Given the description of an element on the screen output the (x, y) to click on. 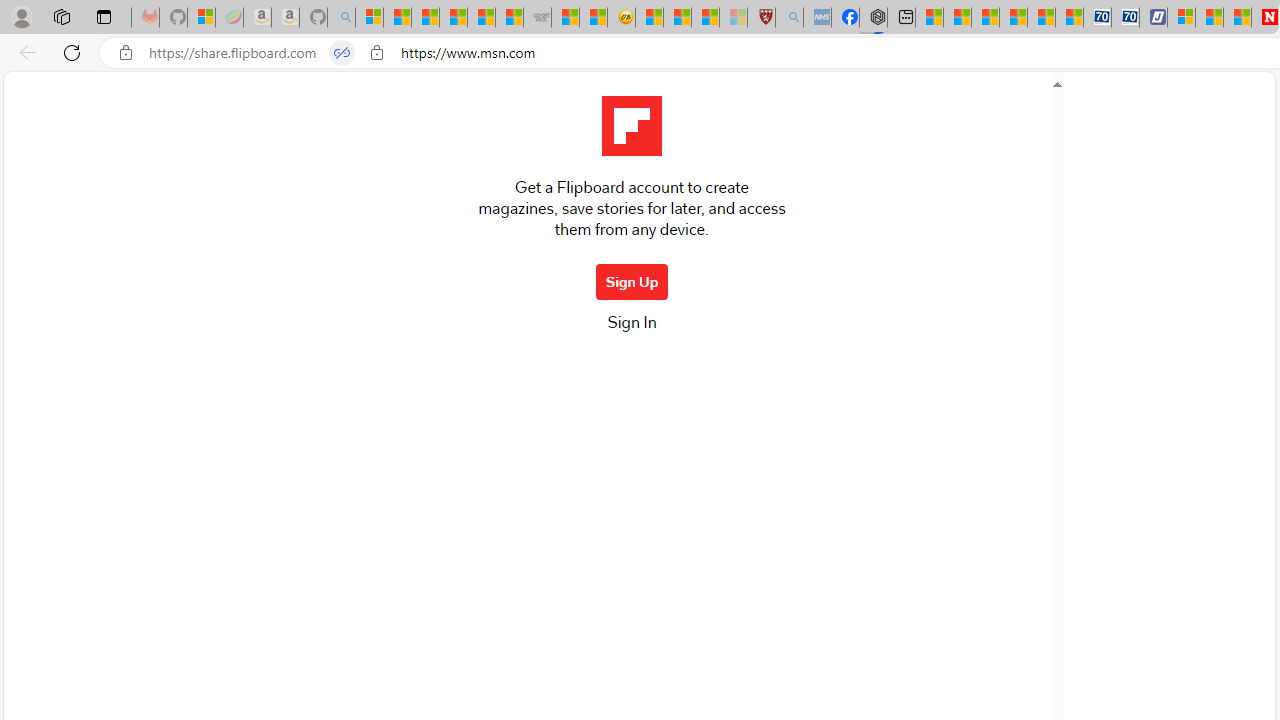
Sign Up (632, 282)
Cheap Hotels - Save70.com (1125, 17)
12 Popular Science Lies that Must be Corrected - Sleeping (733, 17)
